Given the description of an element on the screen output the (x, y) to click on. 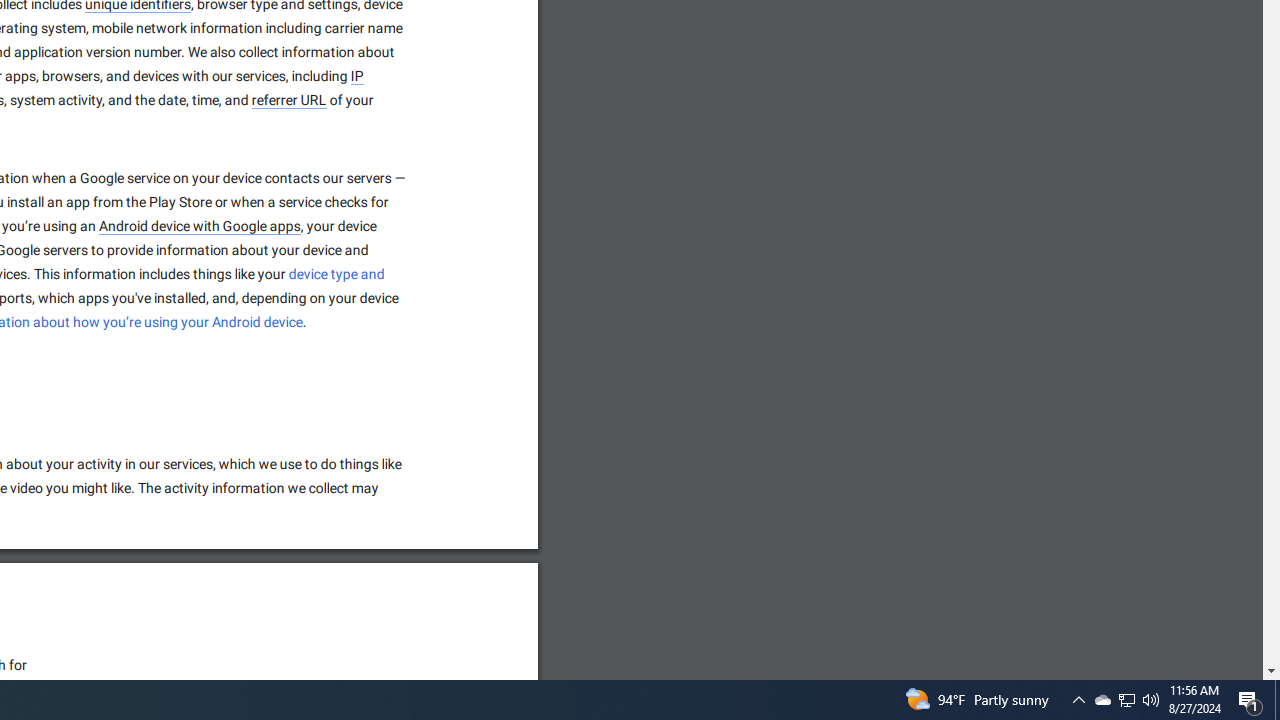
device type and (337, 273)
referrer URL (289, 101)
IP (357, 76)
Android device with Google apps (200, 227)
